Given the description of an element on the screen output the (x, y) to click on. 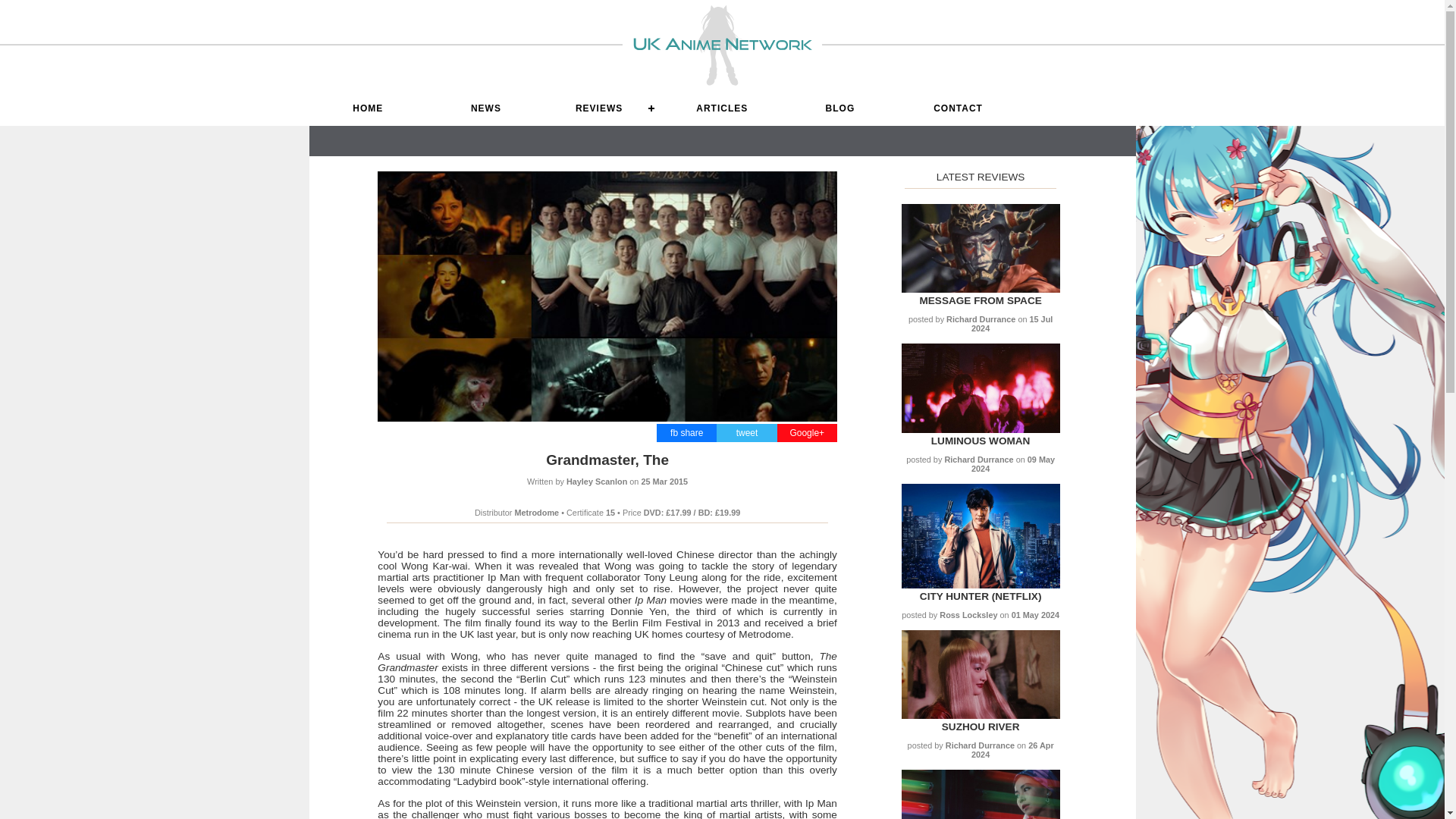
Luminous Woman (980, 440)
ARTICLES (721, 108)
SUZHOU RIVER (981, 726)
Message From Space (980, 288)
fb share (686, 432)
CONTACT (958, 108)
REVIEWS (603, 108)
HOME (368, 108)
Luminous Woman (980, 429)
NEWS (485, 108)
Suzhou River (980, 715)
LUMINOUS WOMAN (980, 440)
BLOG (839, 108)
MESSAGE FROM SPACE (979, 300)
Suzhou River (981, 726)
